Given the description of an element on the screen output the (x, y) to click on. 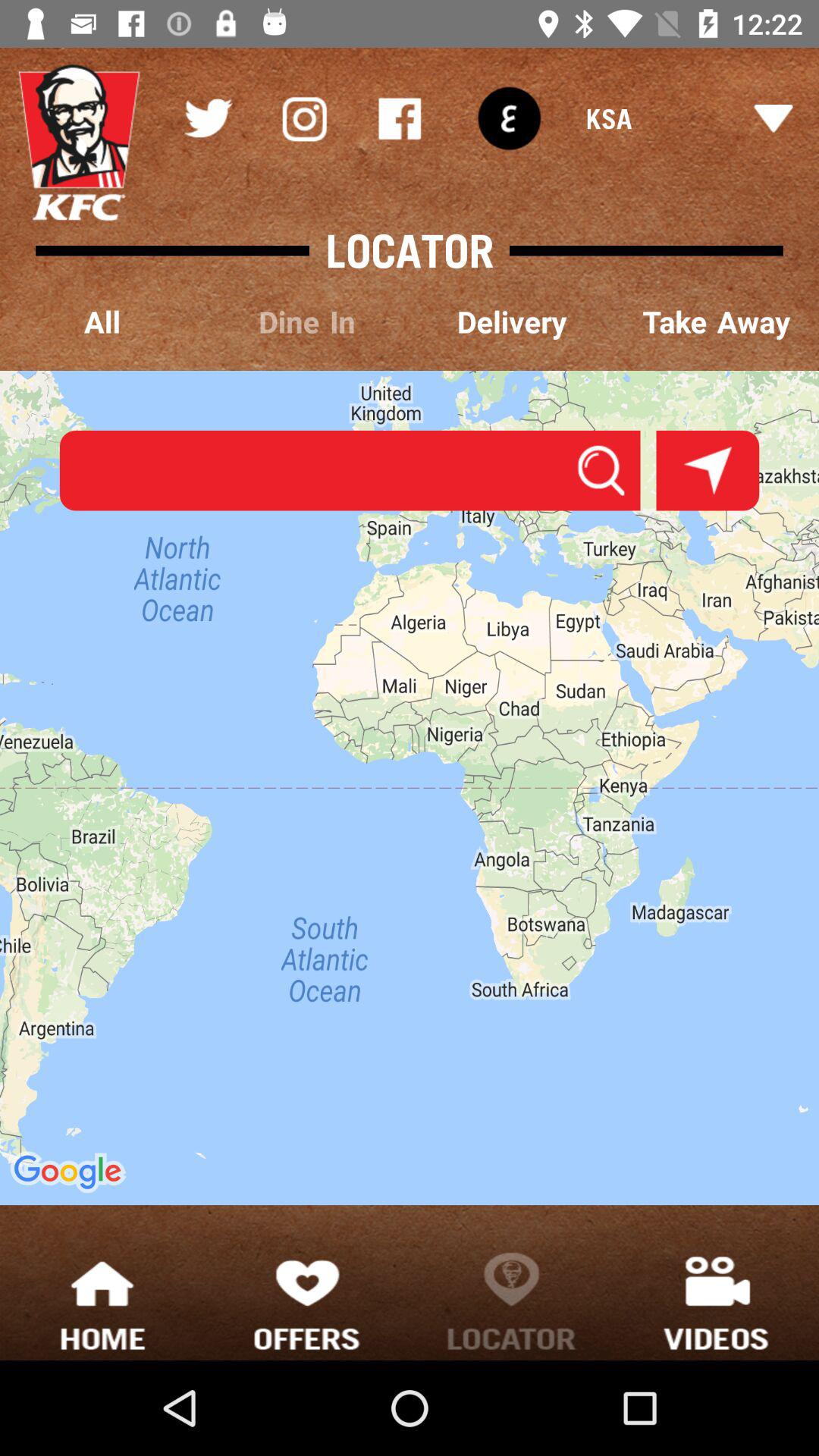
flip to the all icon (102, 322)
